Given the description of an element on the screen output the (x, y) to click on. 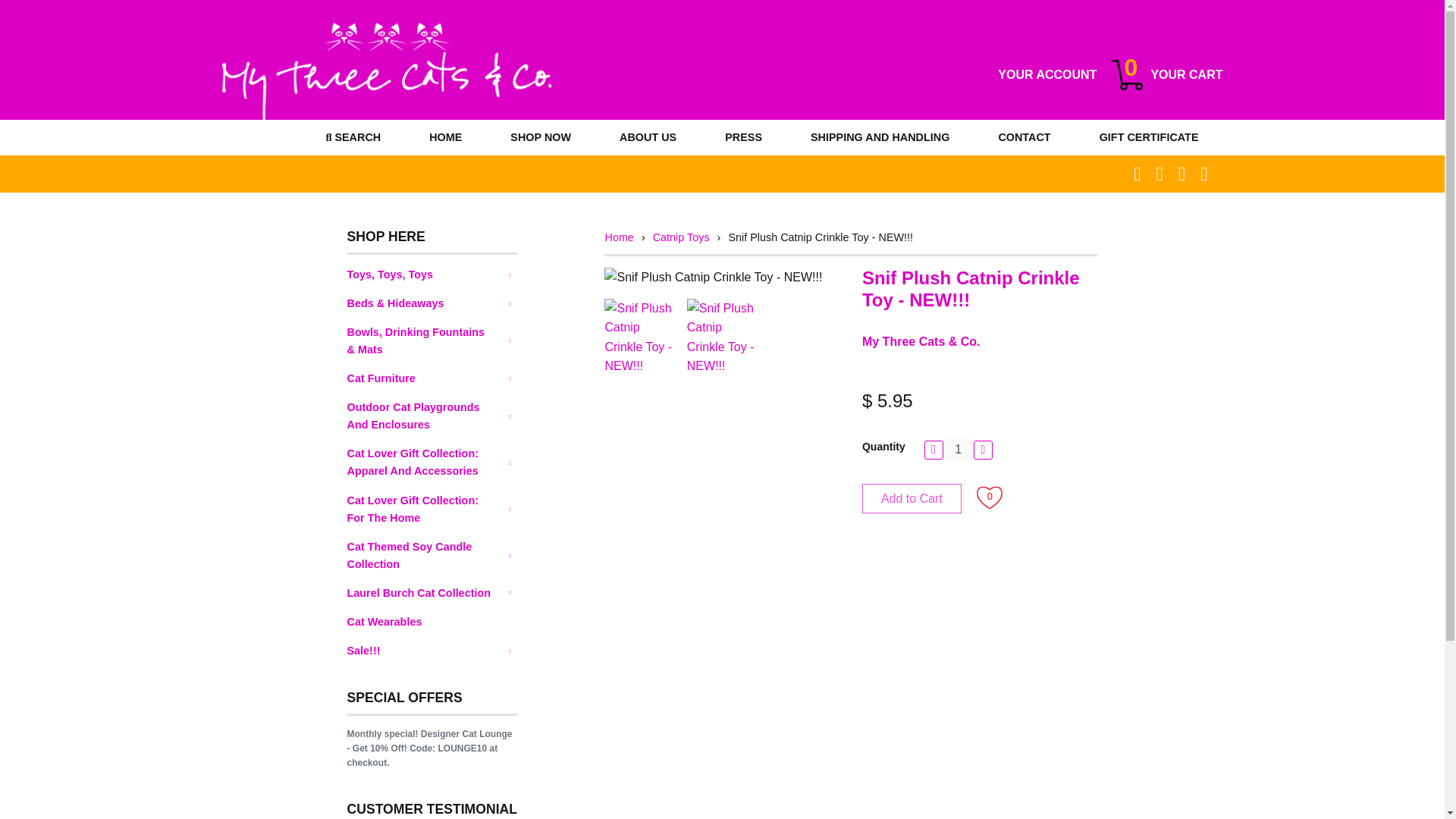
SEARCH (352, 137)
Back to the frontpage (618, 237)
0 (989, 497)
PRESS (743, 137)
CONTACT (1024, 137)
SHIPPING AND HANDLING (1167, 74)
HOME (880, 137)
SHOP NOW (445, 137)
YOUR ACCOUNT (540, 137)
My Three Cats (1046, 75)
1 (385, 74)
Toys, Toys, Toys (958, 449)
ABOUT US (432, 274)
Add to Wishlist (647, 137)
